Given the description of an element on the screen output the (x, y) to click on. 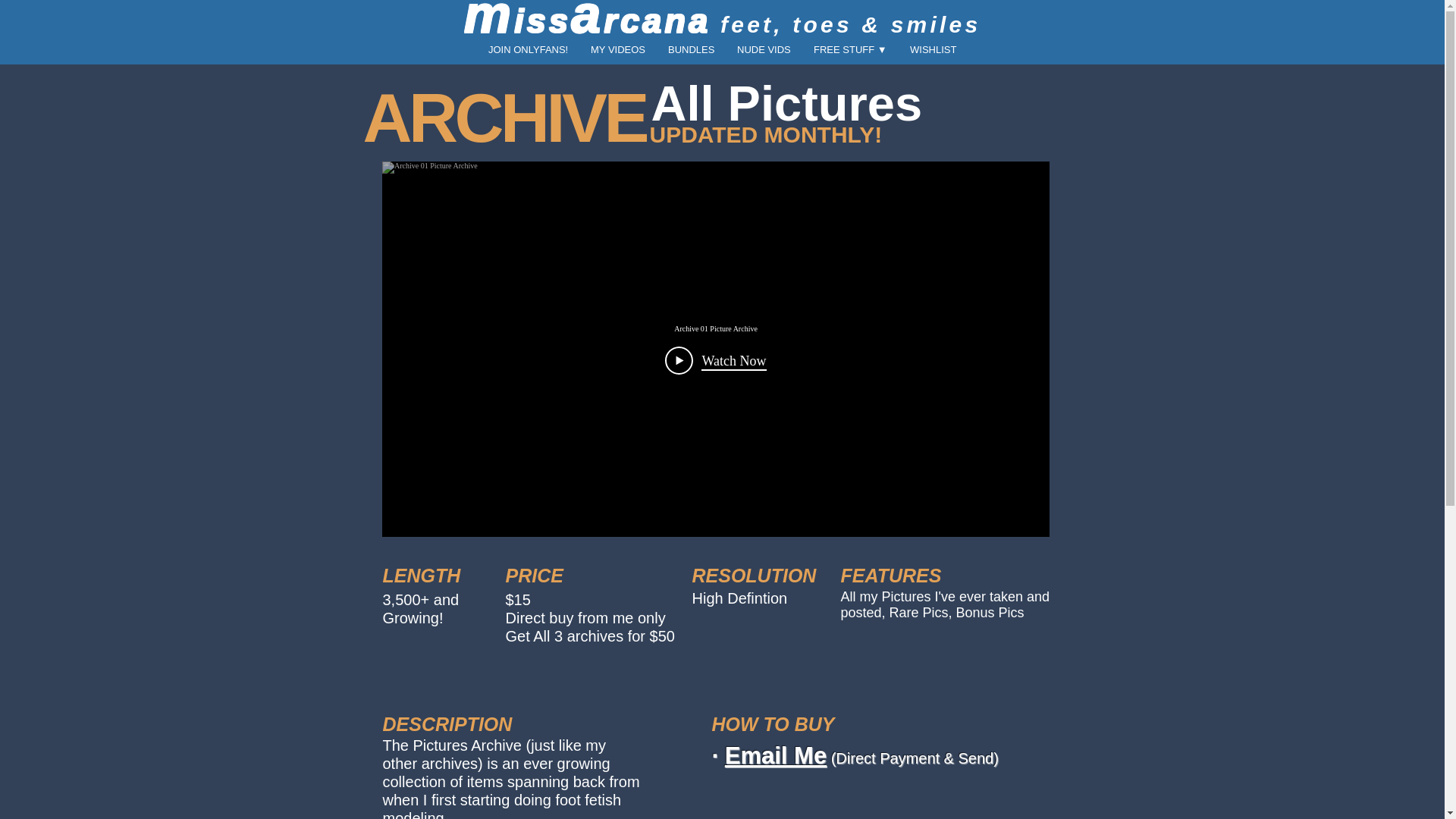
missarcana (592, 21)
WISHLIST (933, 49)
BUNDLES (690, 49)
Email Me (776, 755)
JOIN ONLYFANS! (528, 49)
Archive 01 Picture Archive (716, 328)
NUDE VIDS (763, 49)
MY VIDEOS (617, 49)
